Given the description of an element on the screen output the (x, y) to click on. 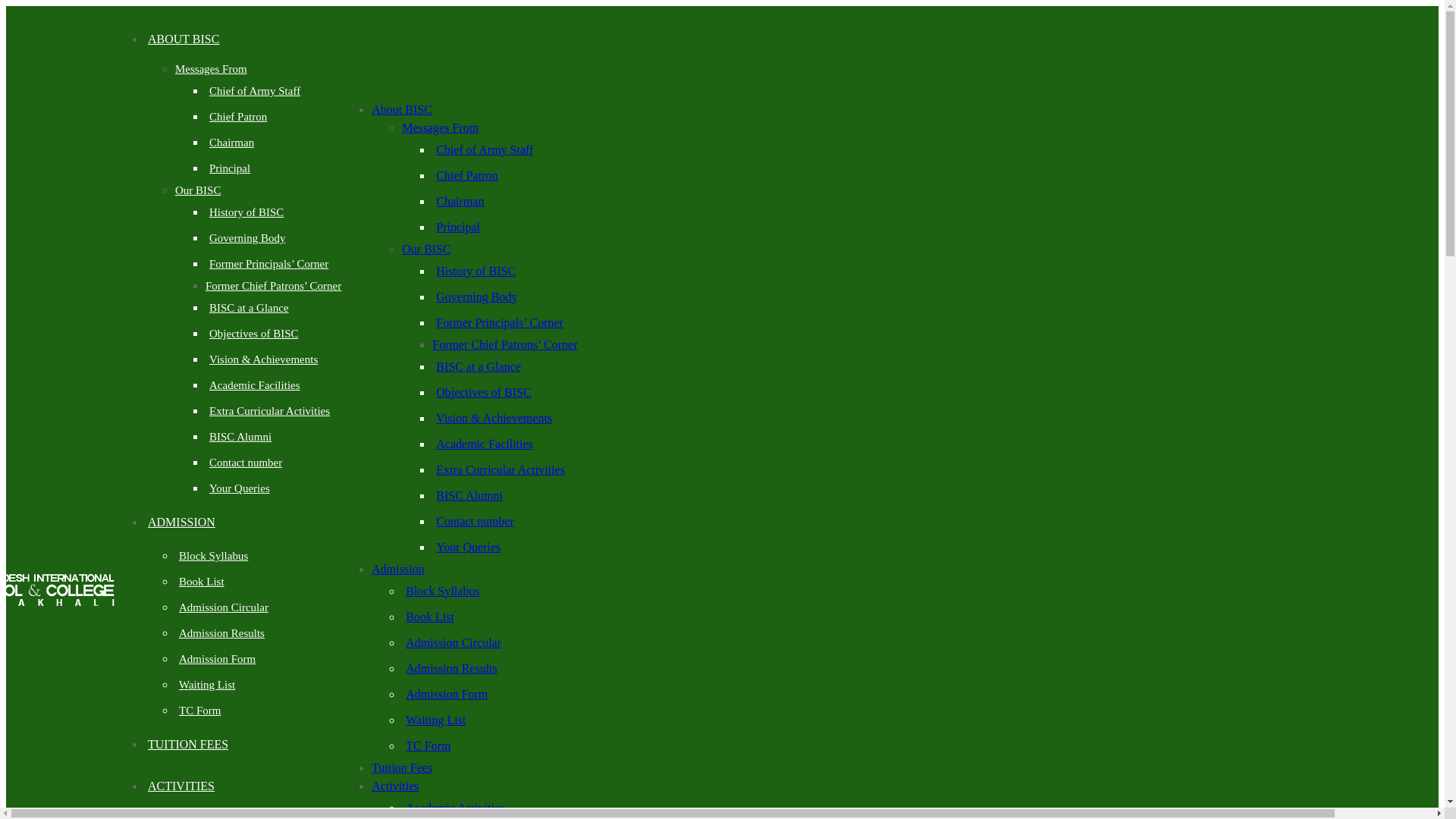
Admission Results Element type: text (450, 667)
Governing Body Element type: text (247, 238)
Waiting List Element type: text (206, 684)
Academic Facilities Element type: text (484, 442)
TC Form Element type: text (199, 710)
Chief Patron Element type: text (237, 116)
Activities Element type: text (394, 785)
Your Queries Element type: text (468, 545)
Vision & Achievements Element type: text (494, 417)
ABOUT BISC Element type: text (183, 38)
Vision & Achievements Element type: text (263, 359)
Book List Element type: text (429, 615)
Chairman Element type: text (459, 200)
Admission Form Element type: text (216, 658)
Book List Element type: text (201, 581)
Contact number Element type: text (245, 462)
ACTIVITIES Element type: text (180, 785)
Objectives of BISC Element type: text (483, 391)
Chief Patron Element type: text (466, 174)
Block Syllabus Element type: text (442, 589)
Our BISC Element type: text (197, 190)
Admission Results Element type: text (221, 633)
Principal Element type: text (458, 225)
BISC at a Glance Element type: text (248, 307)
Chief of Army Staff Element type: text (484, 148)
Admission Circular Element type: text (223, 607)
History of BISC Element type: text (475, 269)
Extra Curricular Activities Element type: text (269, 410)
Extra Curricular Activities Element type: text (500, 468)
About BISC Element type: text (401, 109)
BISC at a Glance Element type: text (478, 365)
Admission Form Element type: text (446, 693)
Principal Element type: text (229, 168)
Waiting List Element type: text (435, 718)
Tuition Fees Element type: text (401, 767)
BISC Alumni Element type: text (469, 494)
Your Queries Element type: text (239, 488)
Messages From Element type: text (211, 68)
Contact number Element type: text (475, 520)
Admission Element type: text (397, 568)
BISC Alumni Element type: text (240, 436)
TC Form Element type: text (427, 744)
ADMISSION Element type: text (181, 521)
Chairman Element type: text (231, 142)
Chief of Army Staff Element type: text (254, 90)
Our BISC Element type: text (425, 248)
Governing Body Element type: text (476, 295)
Messages From Element type: text (439, 127)
Academic Facilities Element type: text (254, 385)
TUITION FEES Element type: text (187, 743)
Objectives of BISC Element type: text (253, 333)
Academic Activities Element type: text (454, 806)
History of BISC Element type: text (246, 212)
Block Syllabus Element type: text (212, 555)
Admission Circular Element type: text (453, 641)
